Given the description of an element on the screen output the (x, y) to click on. 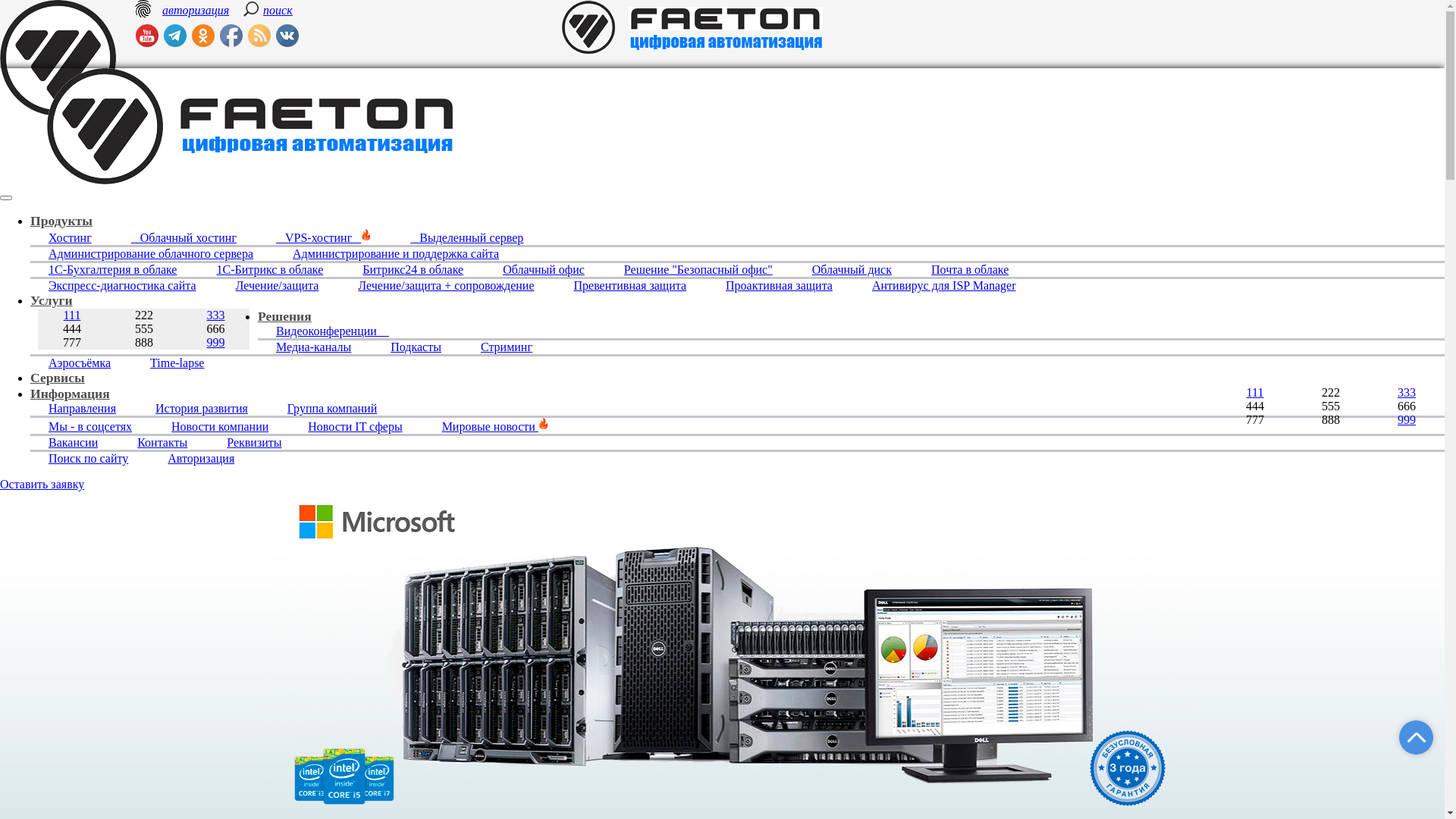
Time-lapse Element type: text (176, 362)
111 Element type: text (72, 314)
333 Element type: text (1406, 391)
111 Element type: text (1255, 391)
333 Element type: text (215, 314)
999 Element type: text (215, 341)
999 Element type: text (1406, 419)
